Given the description of an element on the screen output the (x, y) to click on. 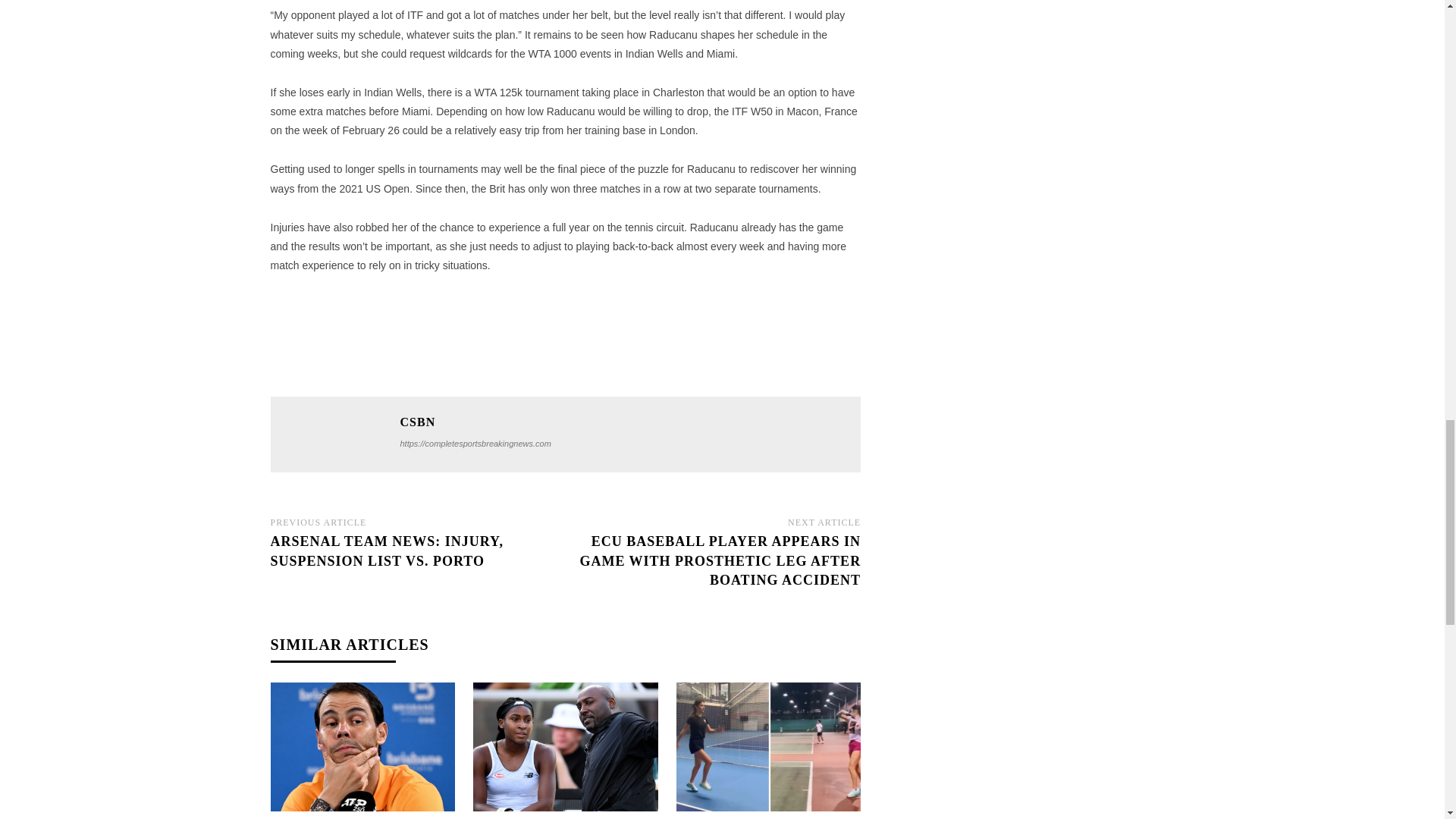
CSBN (335, 434)
